Given the description of an element on the screen output the (x, y) to click on. 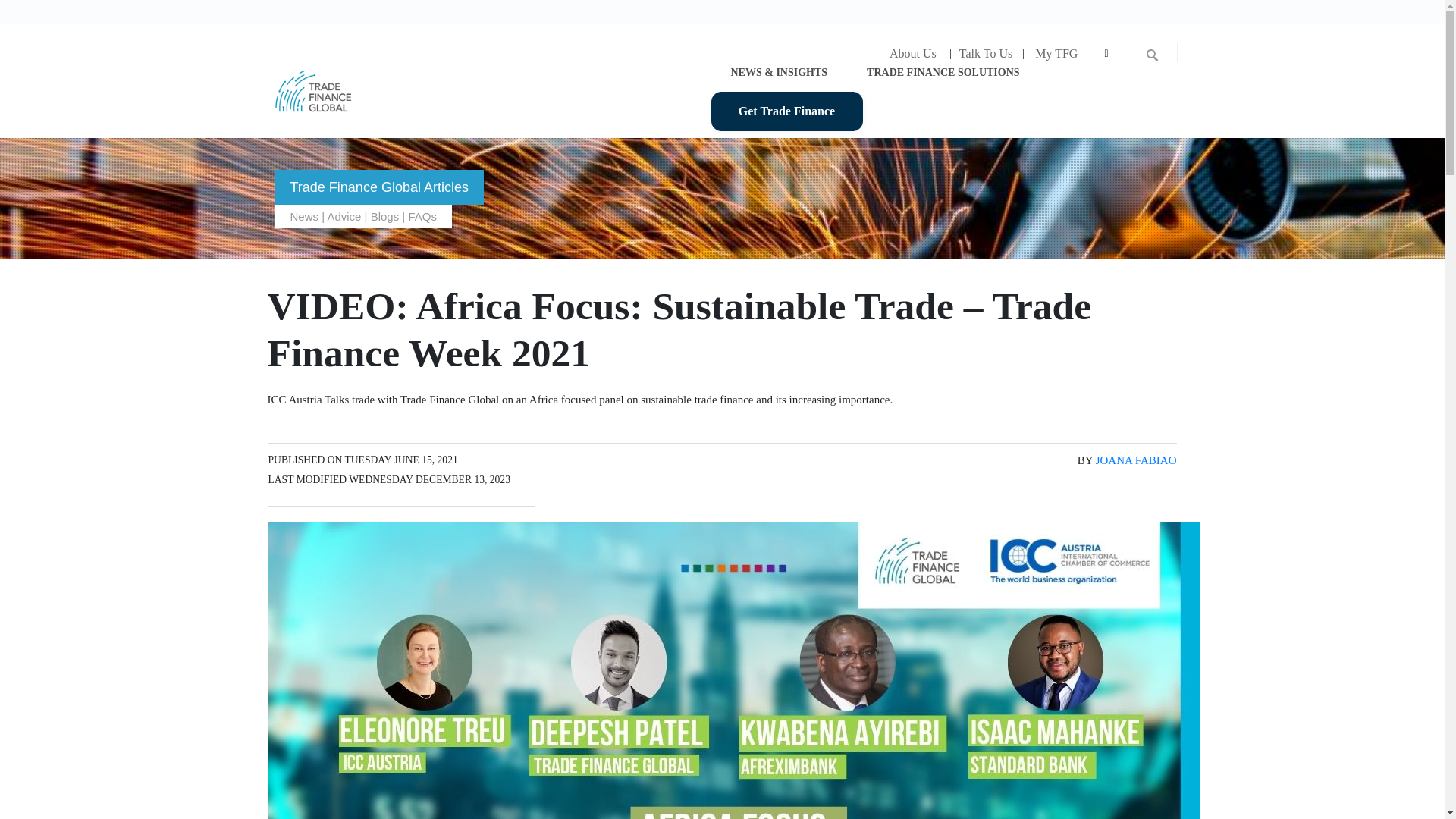
Talk To Us (985, 52)
Search (13, 10)
About Us (912, 52)
My TFG (1056, 52)
Posts by Joana Fabiao (1136, 460)
